Given the description of an element on the screen output the (x, y) to click on. 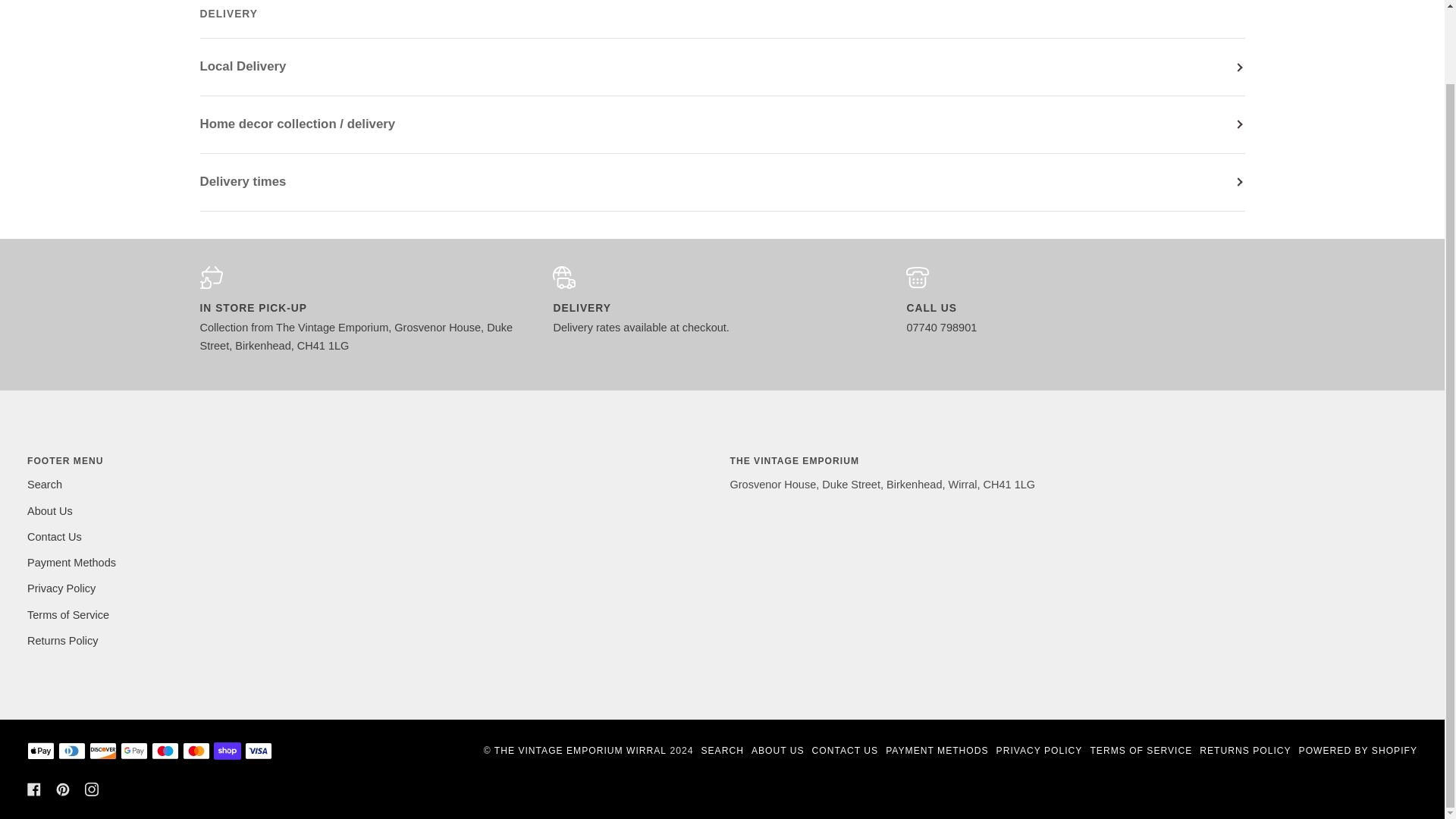
Facebook (33, 789)
Instagram (91, 789)
SHOP PAY (227, 751)
MASTERCARD (196, 751)
GOOGLE PAY (134, 751)
MAESTRO (165, 751)
VISA (258, 751)
APPLE PAY (41, 751)
DISCOVER (102, 751)
Pinterest (62, 789)
DINERS CLUB (71, 751)
